Given the description of an element on the screen output the (x, y) to click on. 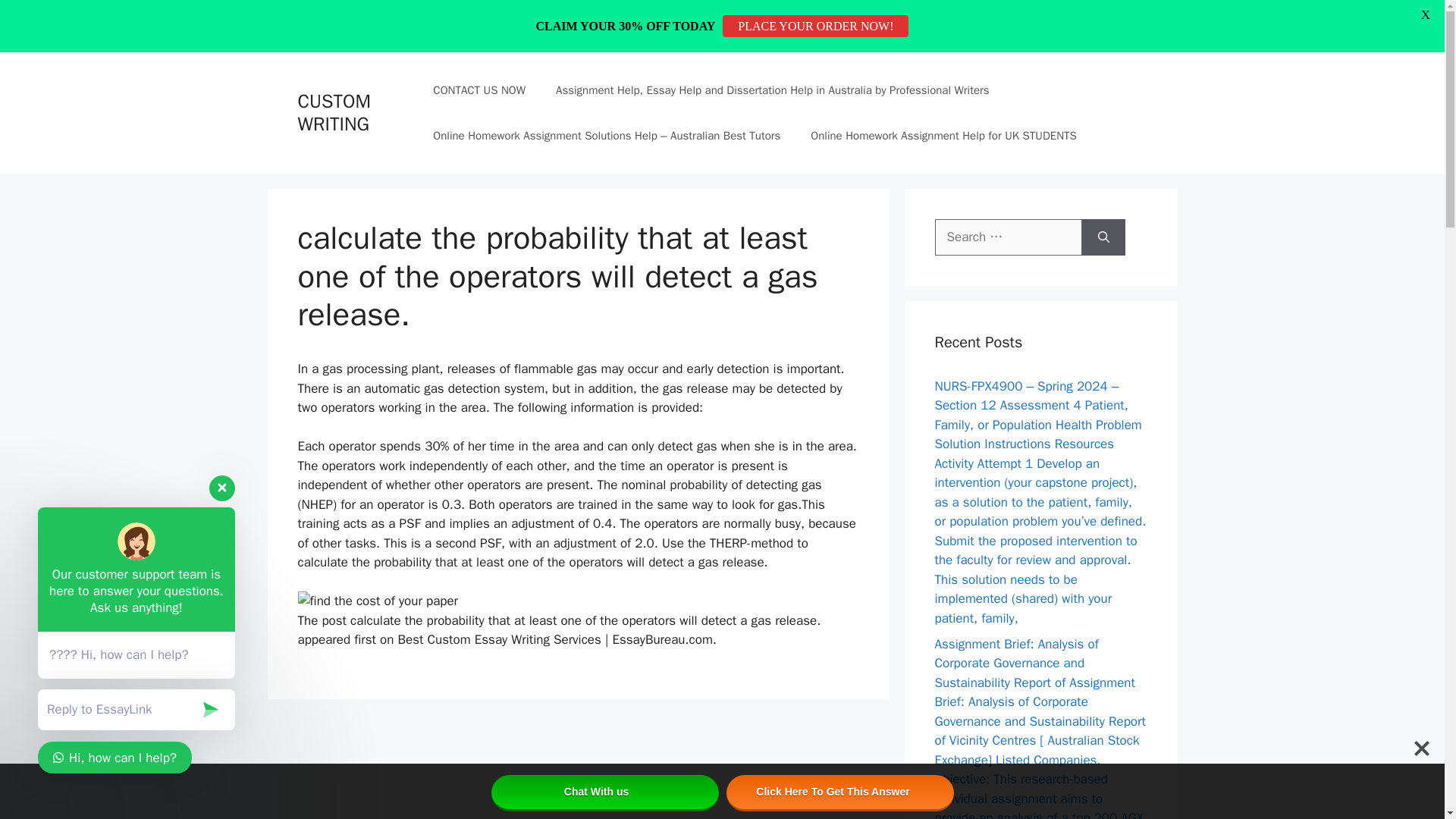
Online Homework Assignment Help for UK STUDENTS (943, 135)
CONTACT US NOW (478, 90)
Search for: (1007, 237)
CUSTOM WRITING (333, 112)
